Given the description of an element on the screen output the (x, y) to click on. 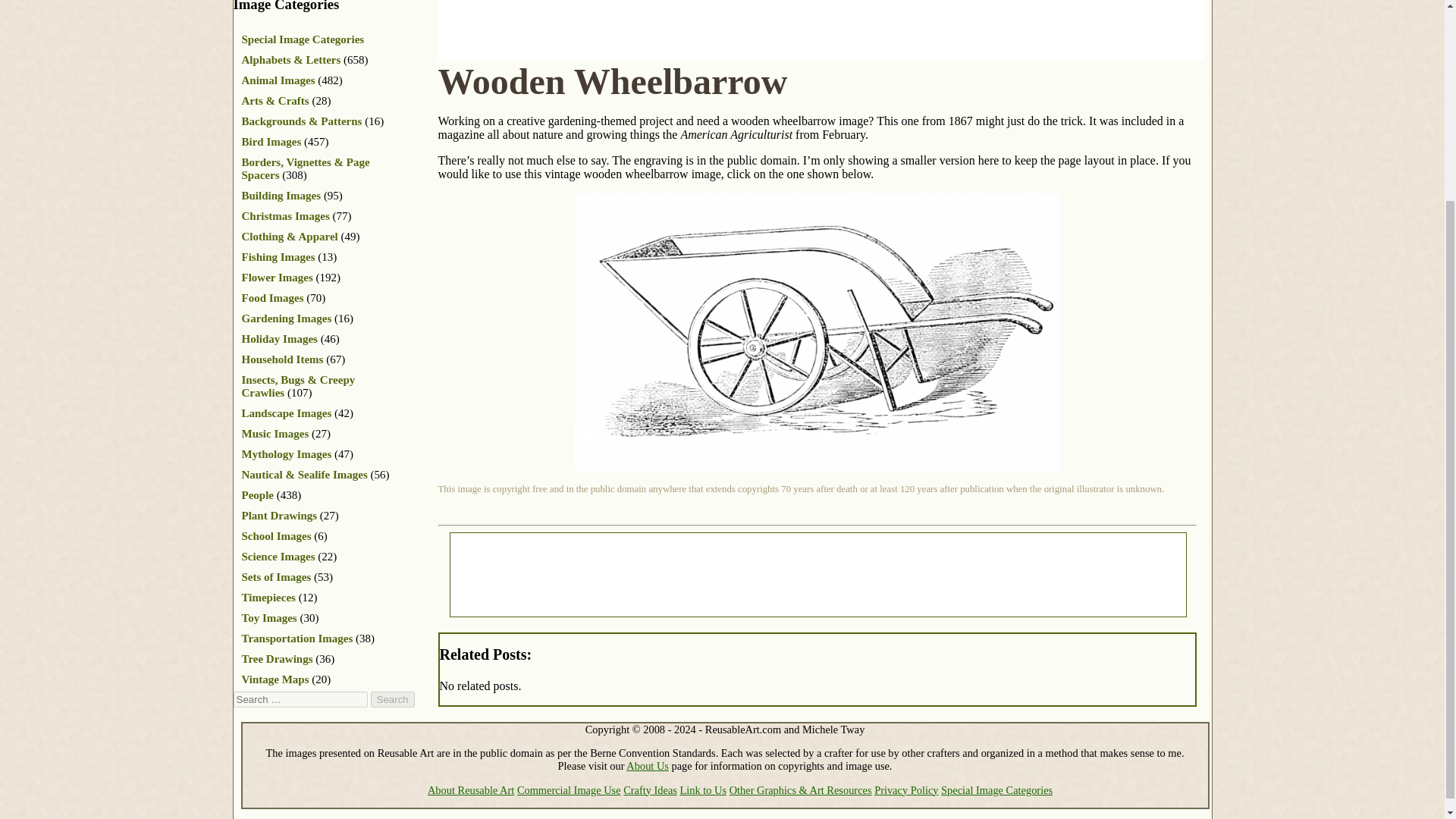
Timepieces (268, 597)
Advertisement (817, 574)
Mythology Images (286, 453)
Special Image Categories (302, 39)
Building Images (280, 195)
Toy Images (269, 617)
Link to Us (702, 789)
Plant Drawings (279, 515)
Transportation Images (296, 638)
Gardening Images (286, 318)
